Given the description of an element on the screen output the (x, y) to click on. 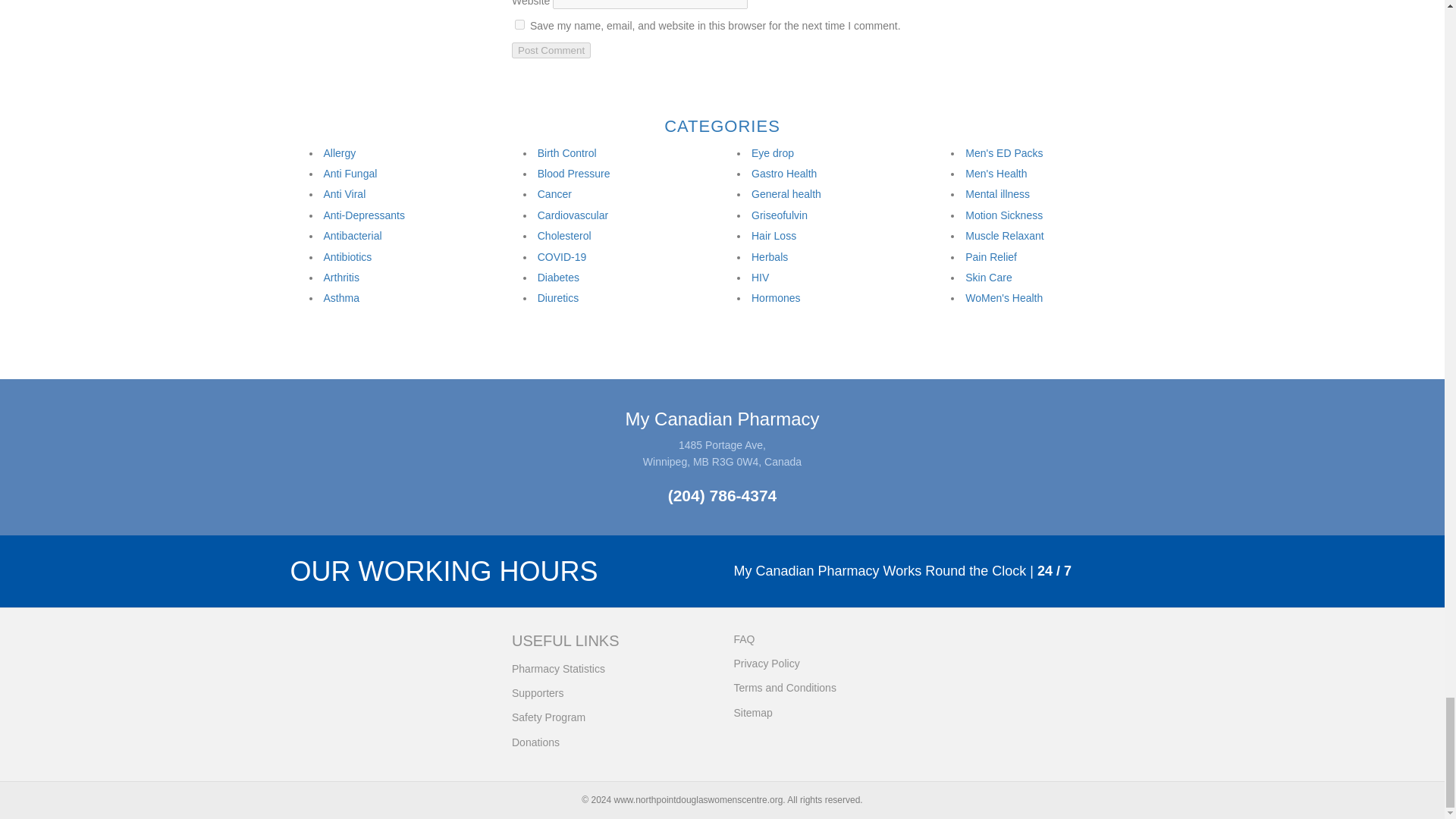
Post Comment (551, 50)
Post Comment (551, 50)
yes (519, 24)
